Given the description of an element on the screen output the (x, y) to click on. 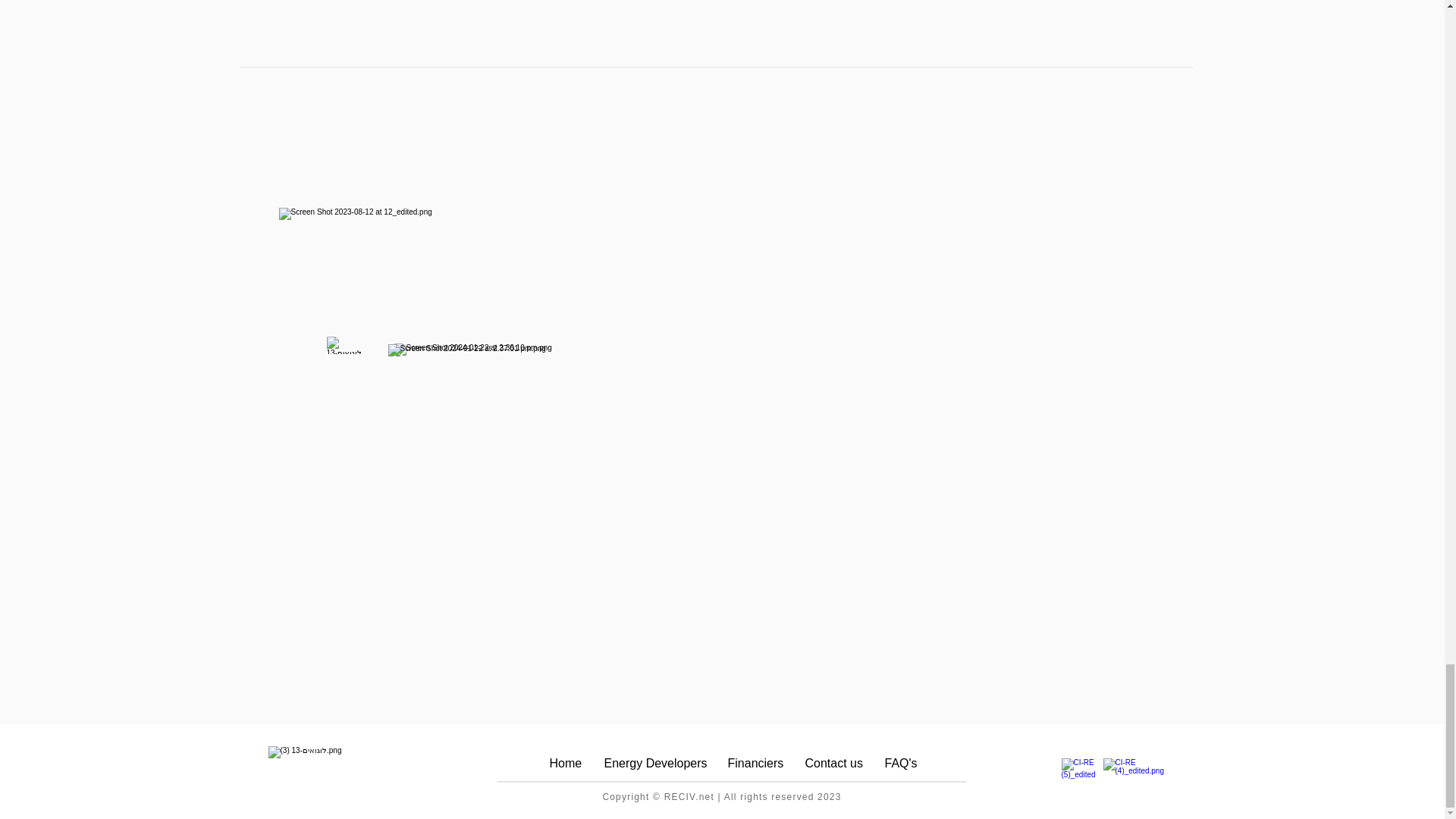
FAQ's (900, 763)
Home (565, 763)
Energy Developers (654, 763)
Financiers (754, 763)
Contact us (832, 763)
